Given the description of an element on the screen output the (x, y) to click on. 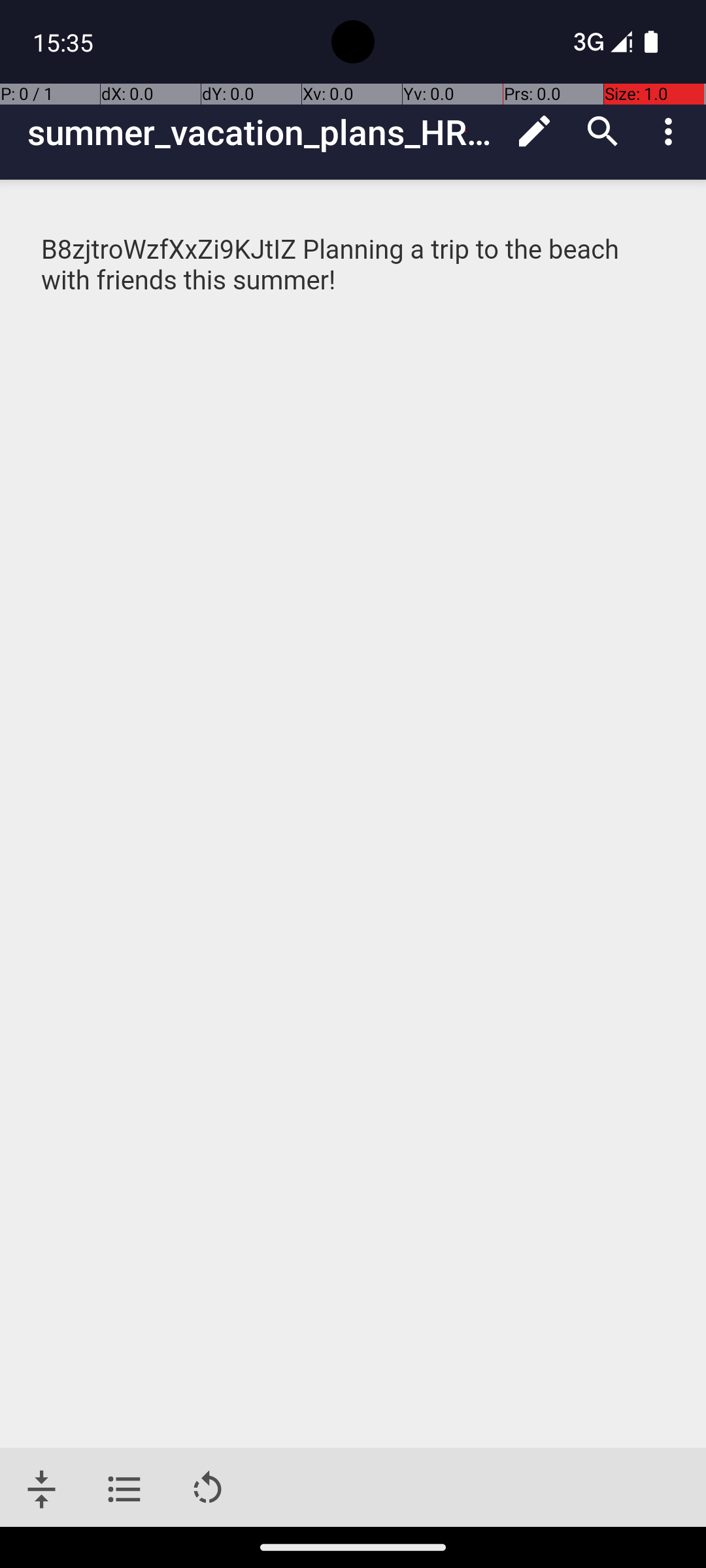
summer_vacation_plans_HRXn Element type: android.widget.TextView (263, 131)
B8zjtroWzfXxZi9KJtIZ Planning a trip to the beach with friends this summer! Element type: android.widget.TextView (331, 264)
markor Element type: android.view.View (354, 264)
